Given the description of an element on the screen output the (x, y) to click on. 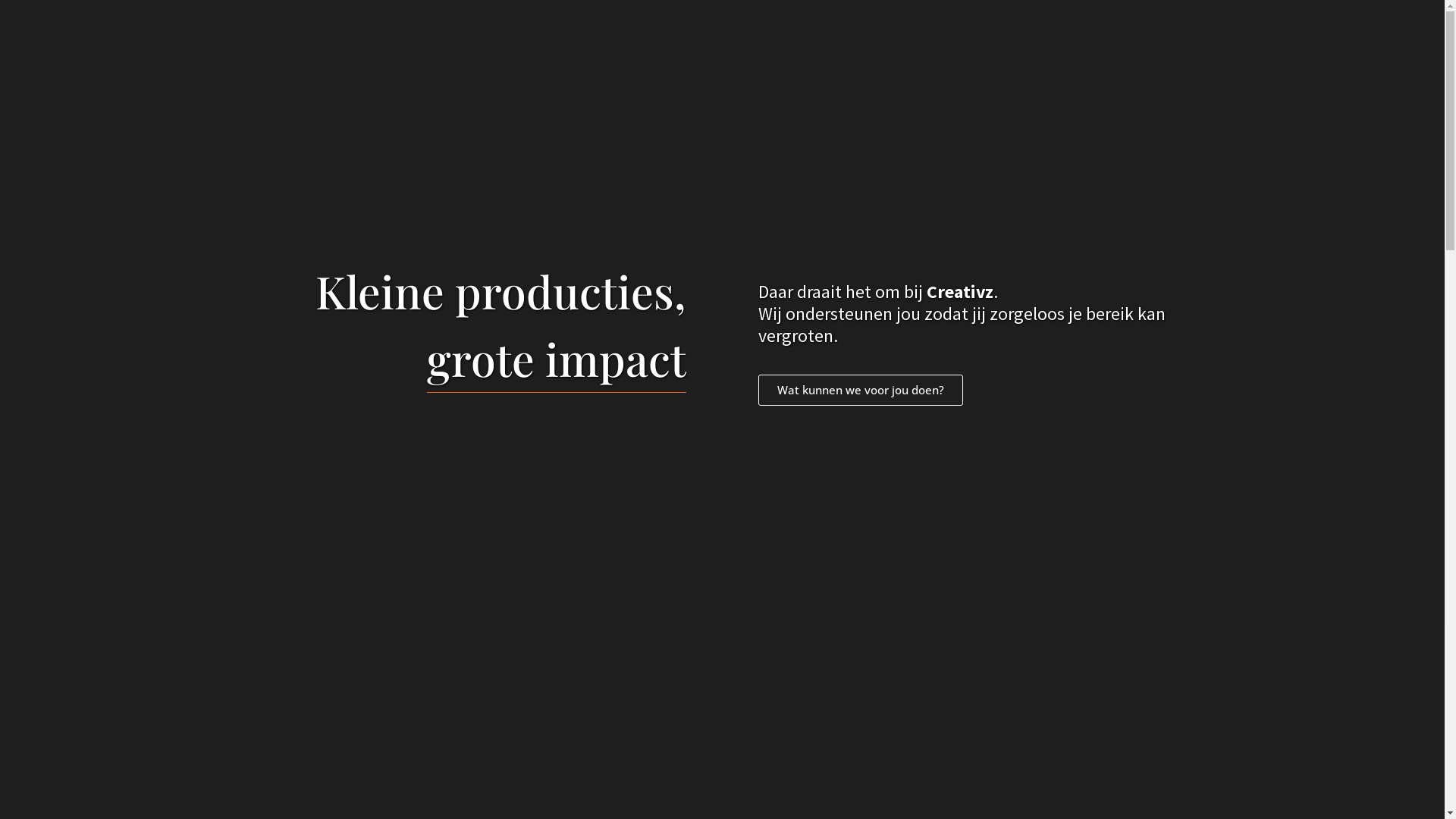
Wat kunnen we voor jou doen? Element type: text (860, 389)
